Given the description of an element on the screen output the (x, y) to click on. 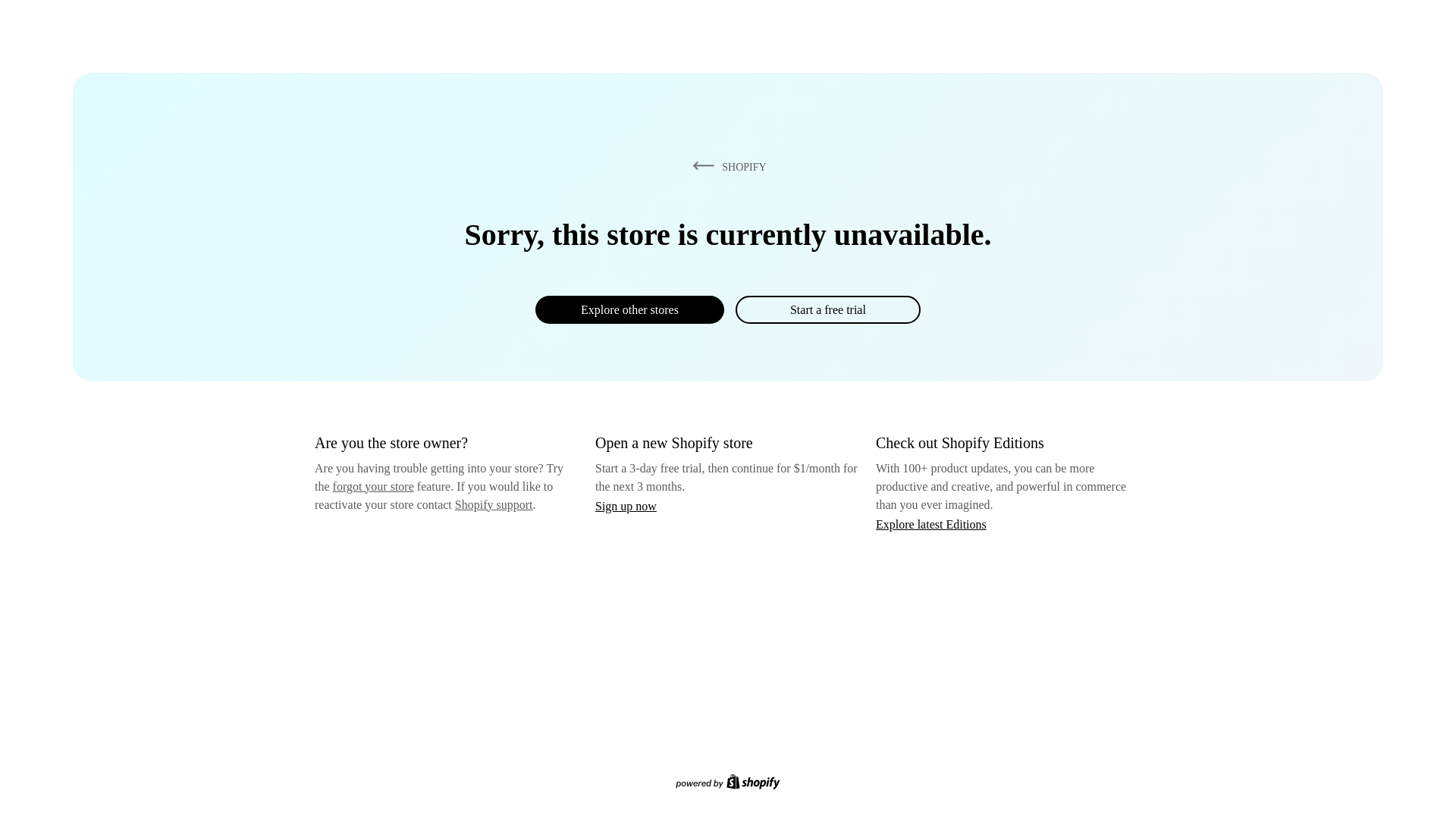
Explore latest Editions (931, 523)
forgot your store (373, 486)
Start a free trial (827, 309)
Explore other stores (629, 309)
SHOPIFY (726, 166)
Shopify support (493, 504)
Sign up now (625, 505)
